Given the description of an element on the screen output the (x, y) to click on. 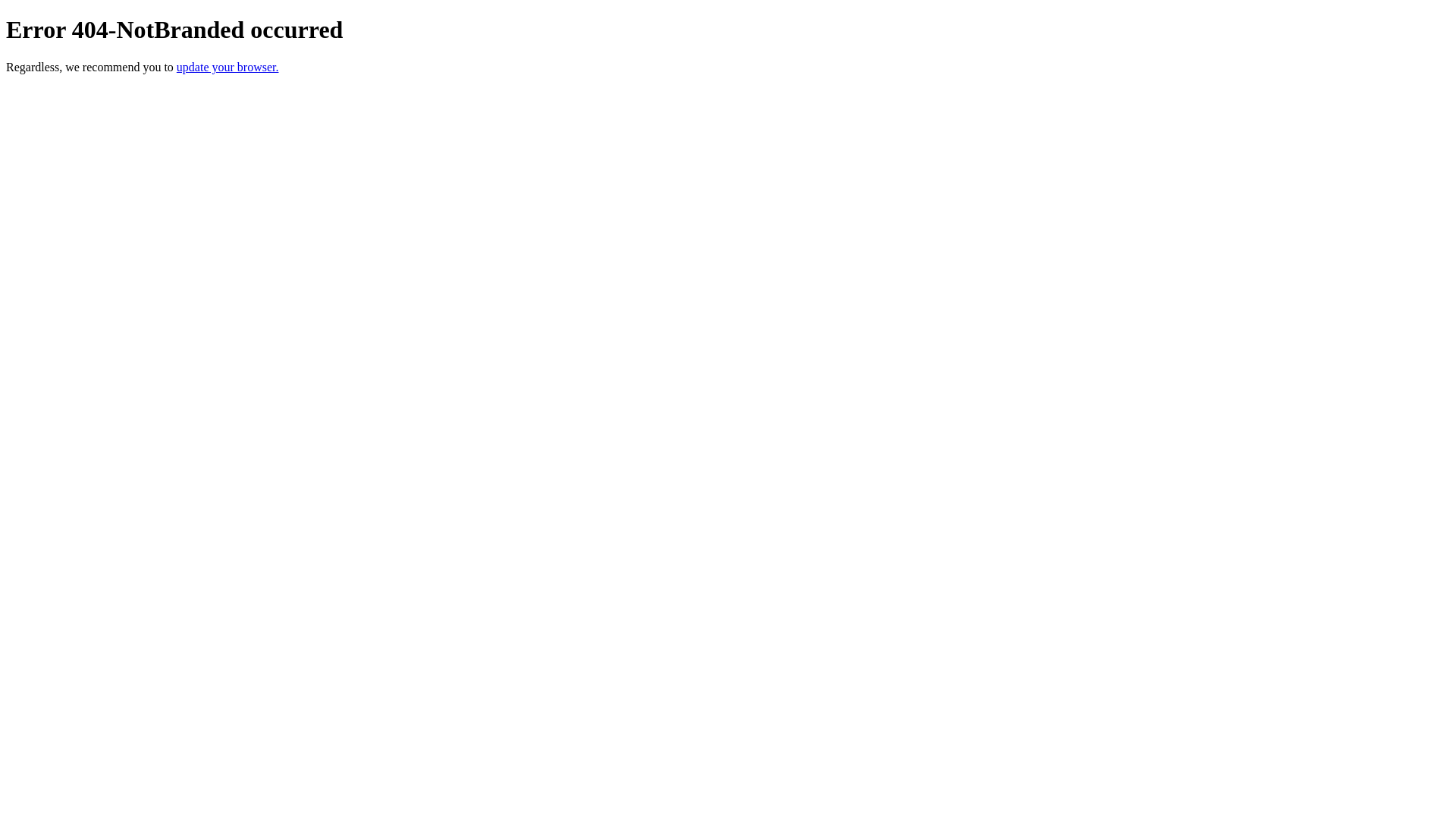
update your browser. Element type: text (227, 66)
